Given the description of an element on the screen output the (x, y) to click on. 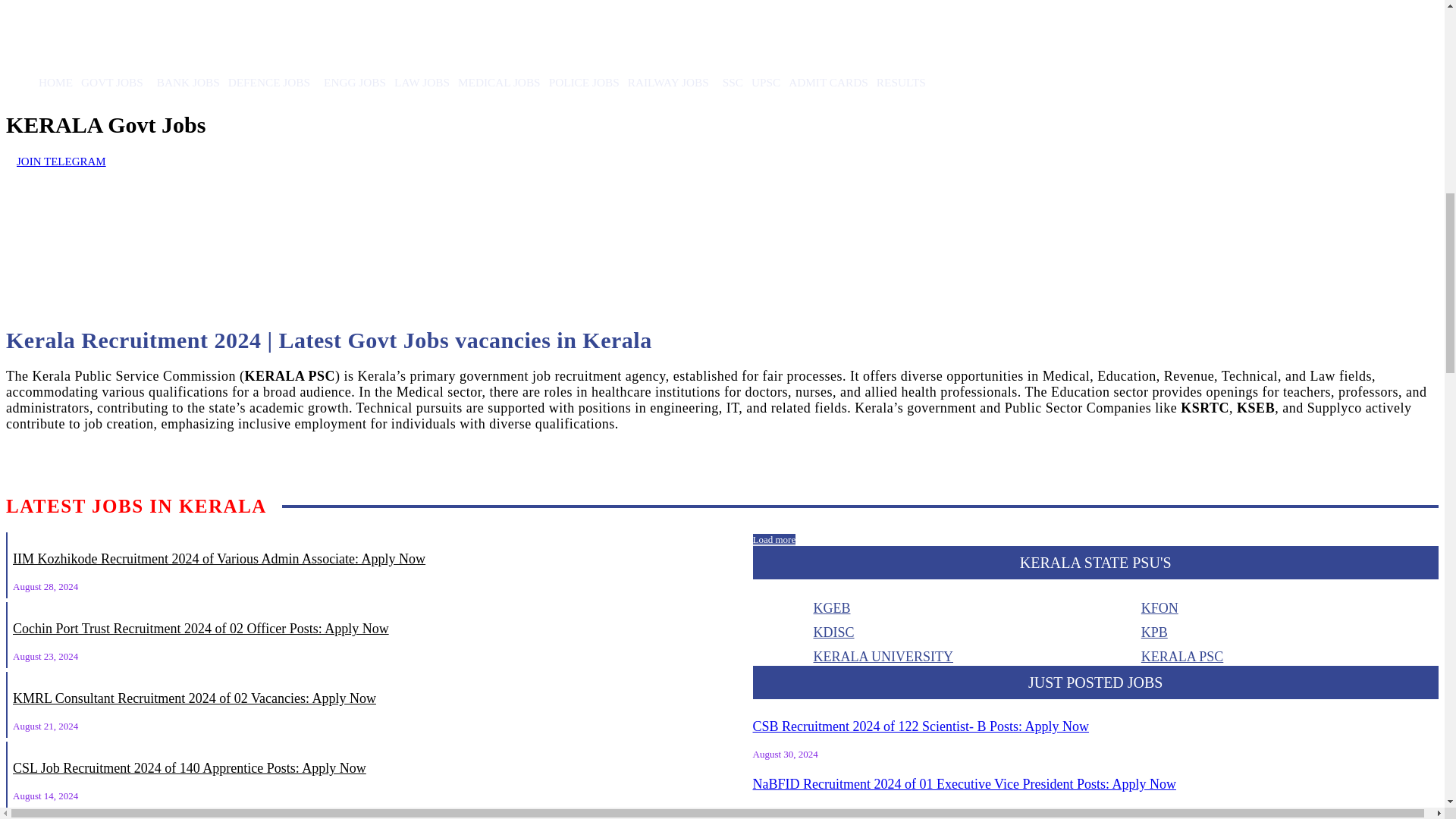
HOME (55, 82)
KERALA (269, 240)
KMRL Consultant Recruitment 2024 of 02 Vacancies: Apply Now (194, 698)
JOIN TELEGRAM (55, 161)
